Given the description of an element on the screen output the (x, y) to click on. 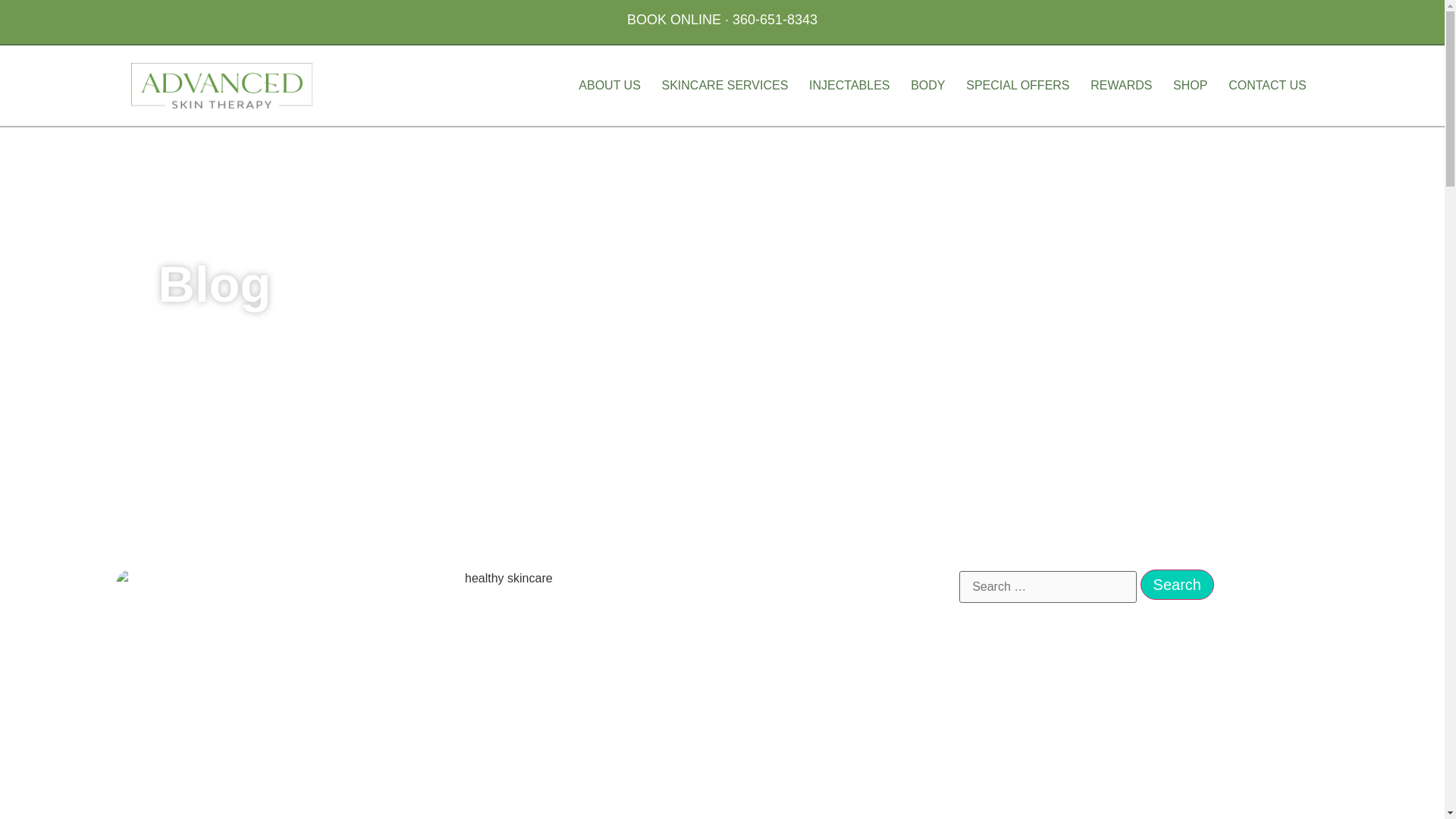
Search (1177, 584)
BOOK ONLINE (673, 19)
360-651-8343 (774, 19)
Search (1177, 584)
